Given the description of an element on the screen output the (x, y) to click on. 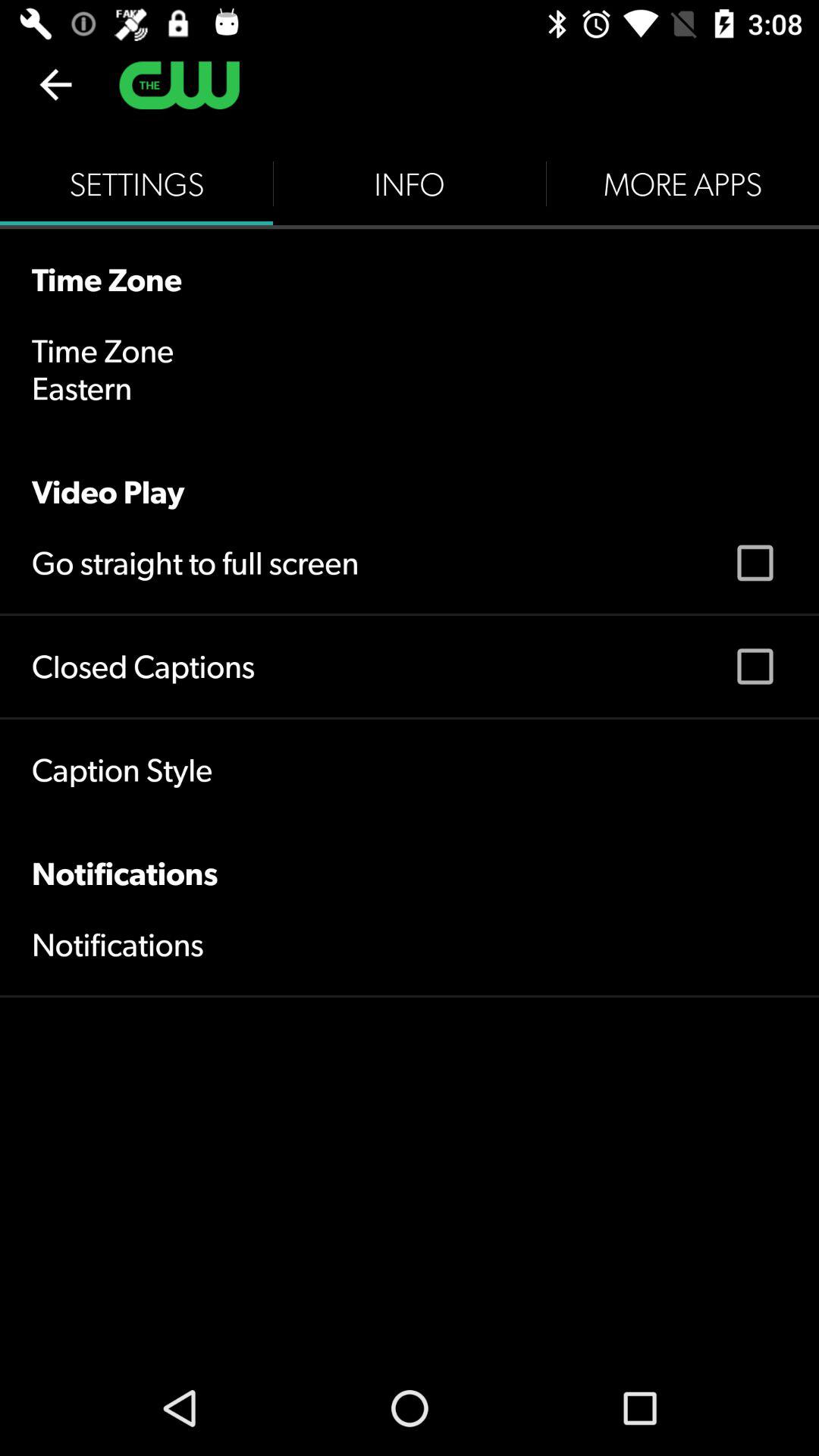
click the closed captions  from the right side (755, 666)
select the button right to go straight to full screen (755, 563)
click on info (409, 183)
